Given the description of an element on the screen output the (x, y) to click on. 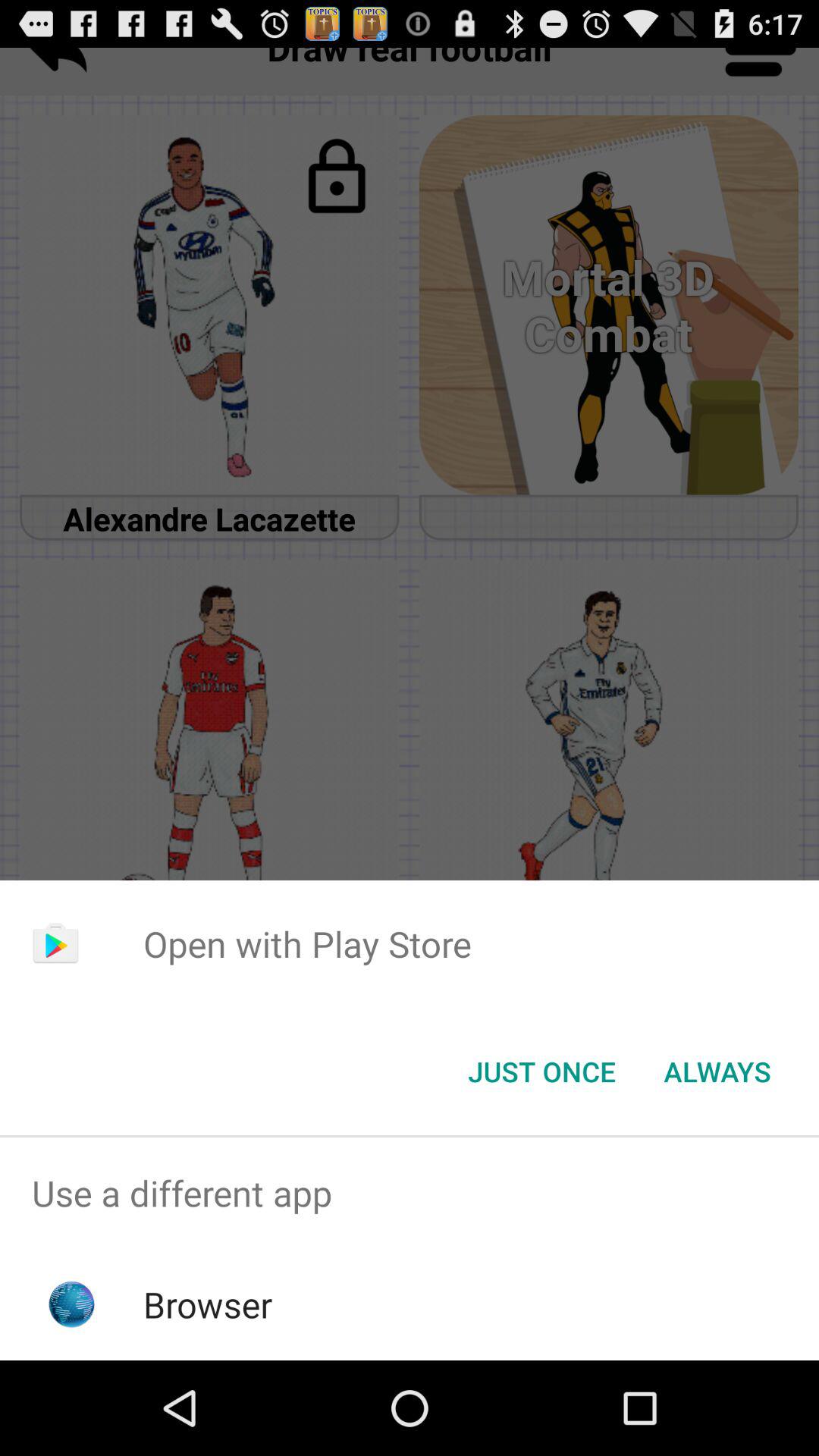
open the always icon (717, 1071)
